Given the description of an element on the screen output the (x, y) to click on. 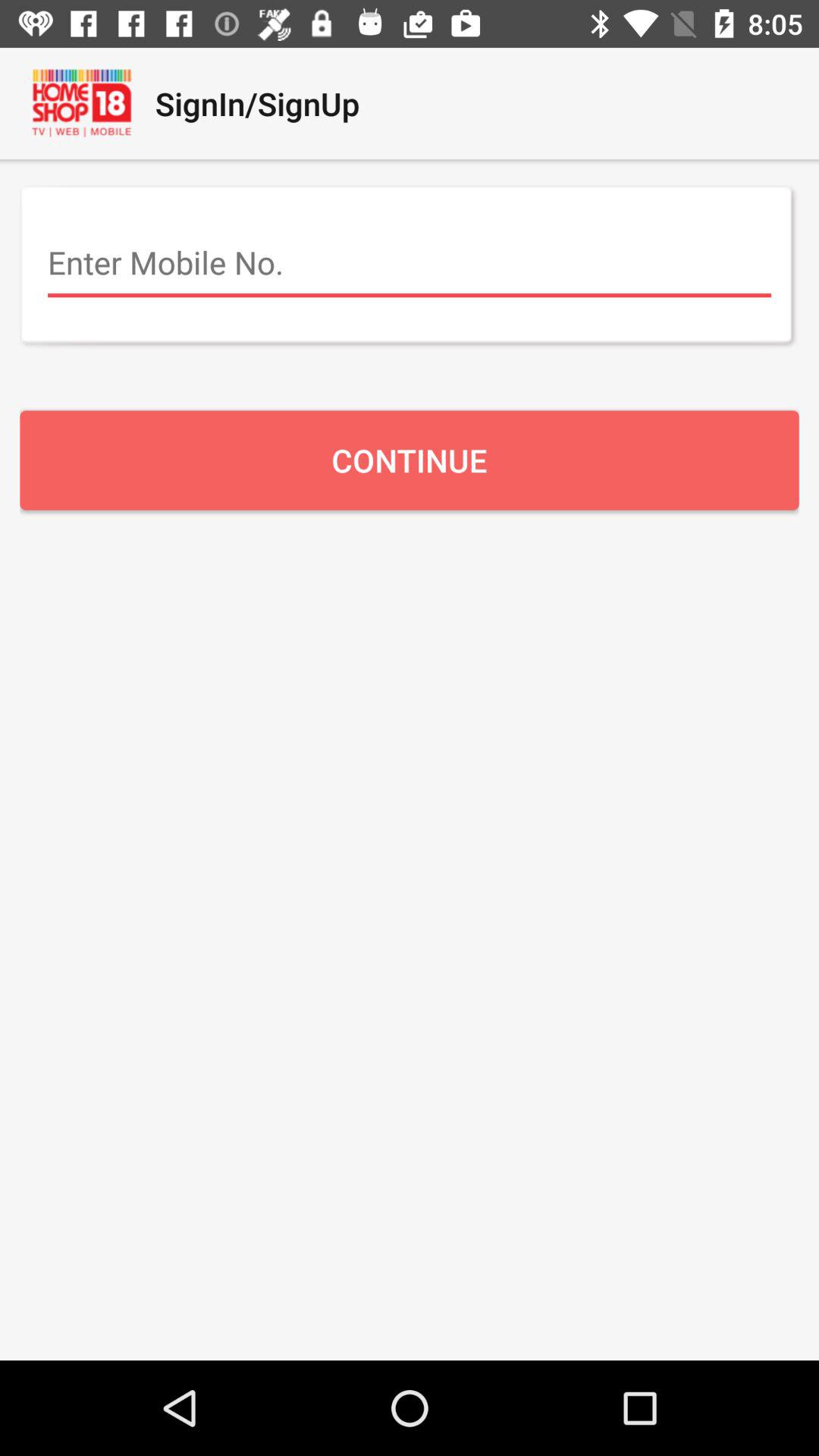
open icon above continue icon (409, 263)
